Given the description of an element on the screen output the (x, y) to click on. 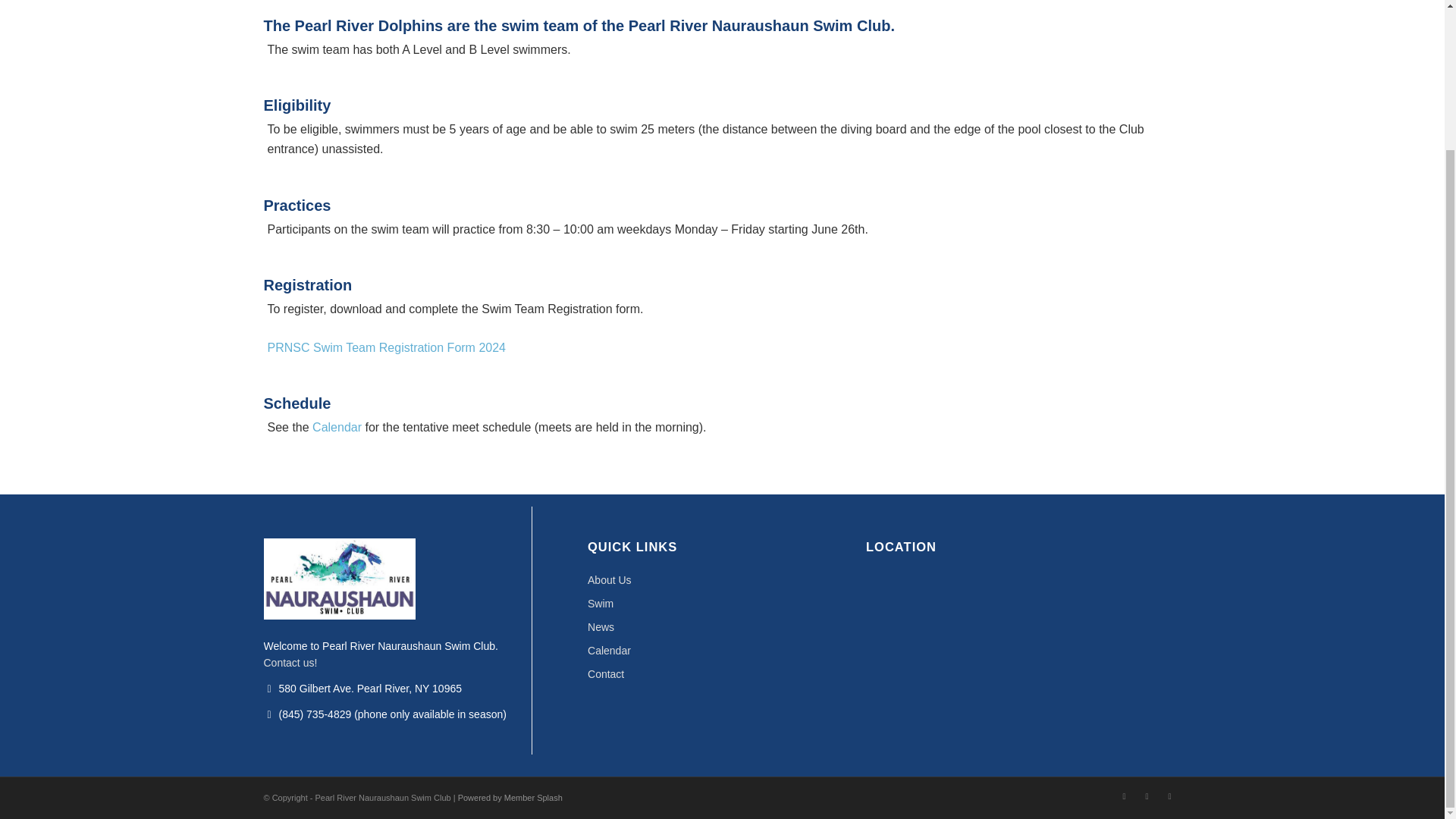
Swim (722, 603)
Contact us! (290, 662)
Instagram (1124, 795)
Calendar (337, 427)
PRNSC Swim Team Registration Form 2024 (385, 347)
Facebook (1146, 795)
Contact (722, 674)
Calendar (722, 650)
About Us (722, 580)
X (1169, 795)
News (722, 627)
Powered by Member Splash (510, 797)
